Given the description of an element on the screen output the (x, y) to click on. 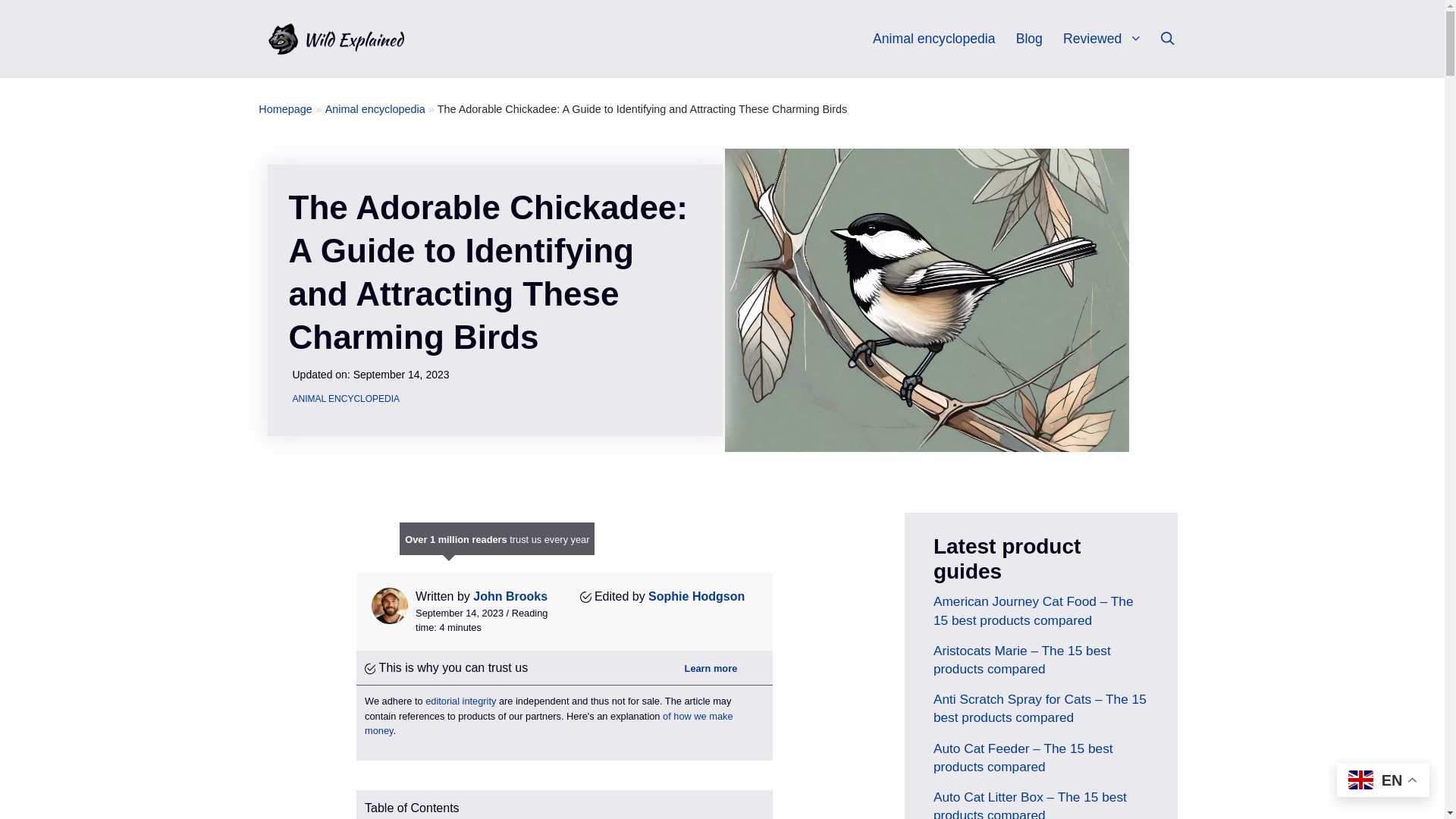
Author-Name (695, 595)
Category Name (374, 109)
Reviewed (1108, 39)
Author-Name (510, 595)
Animal encyclopedia (933, 39)
